Given the description of an element on the screen output the (x, y) to click on. 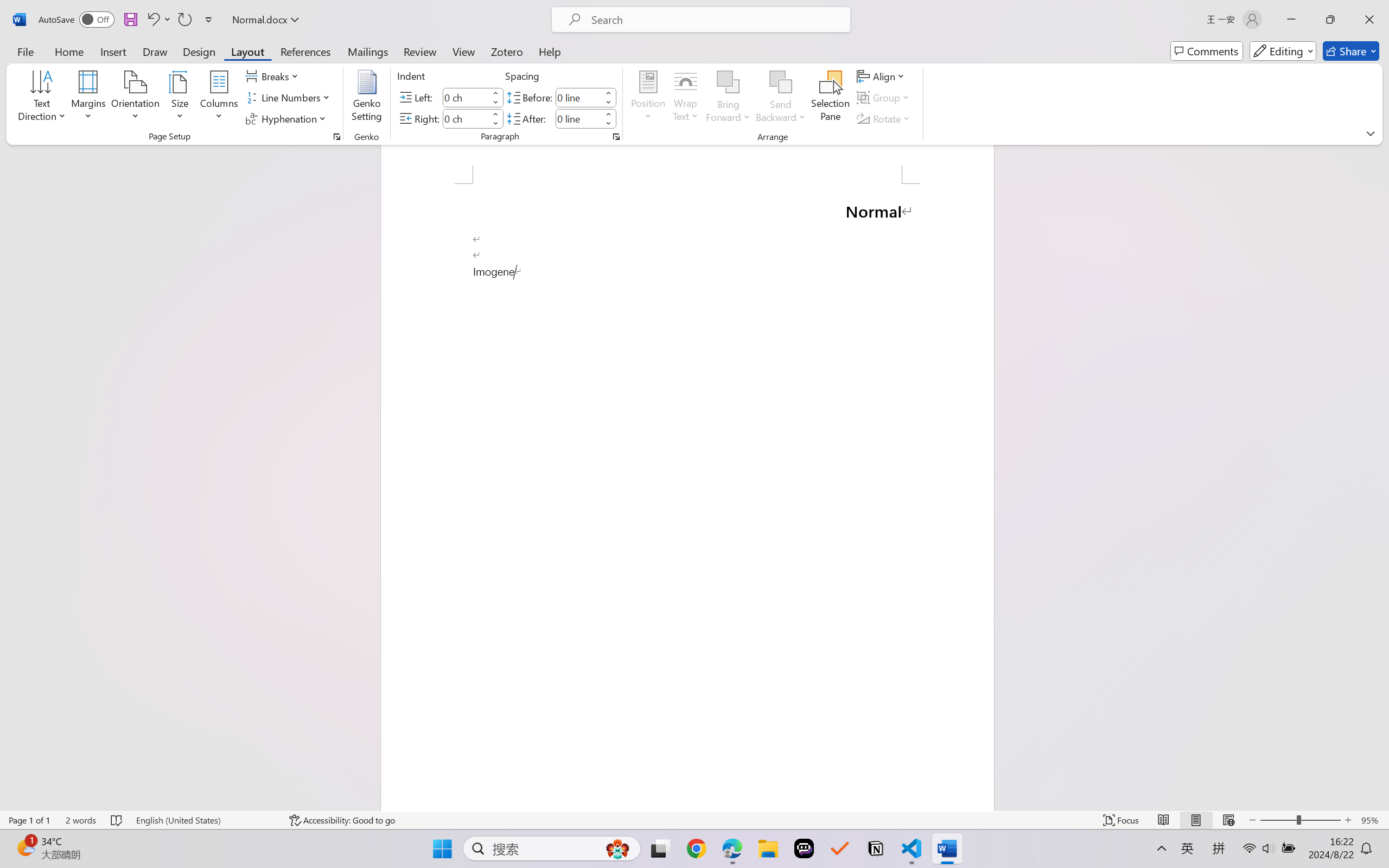
Spacing Before (578, 96)
Page 1 content (687, 497)
Help (549, 51)
Paragraph... (615, 136)
Class: NetUIScrollBar (1382, 477)
Wrap Text (685, 97)
Bring Forward (728, 97)
Zoom 95% (1372, 819)
